Given the description of an element on the screen output the (x, y) to click on. 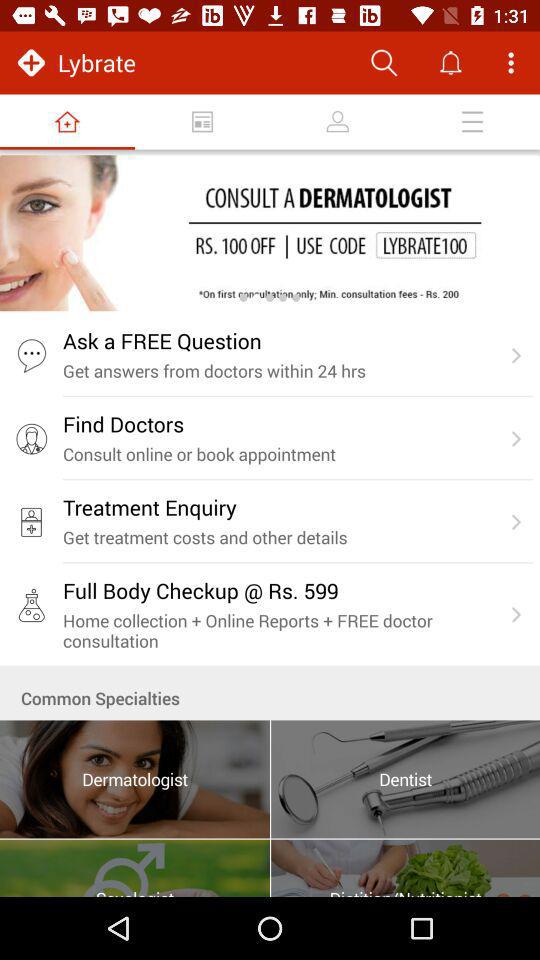
search (384, 62)
